Given the description of an element on the screen output the (x, y) to click on. 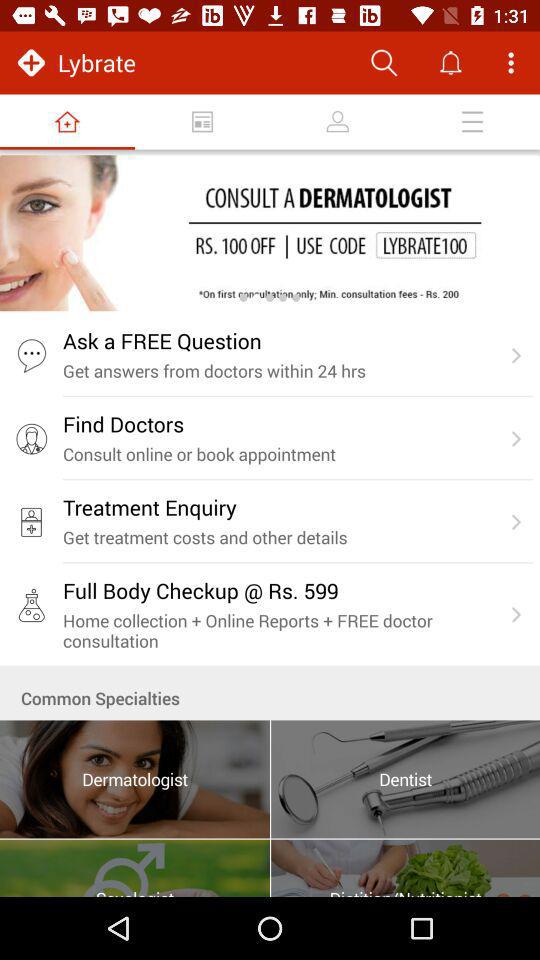
search (384, 62)
